Given the description of an element on the screen output the (x, y) to click on. 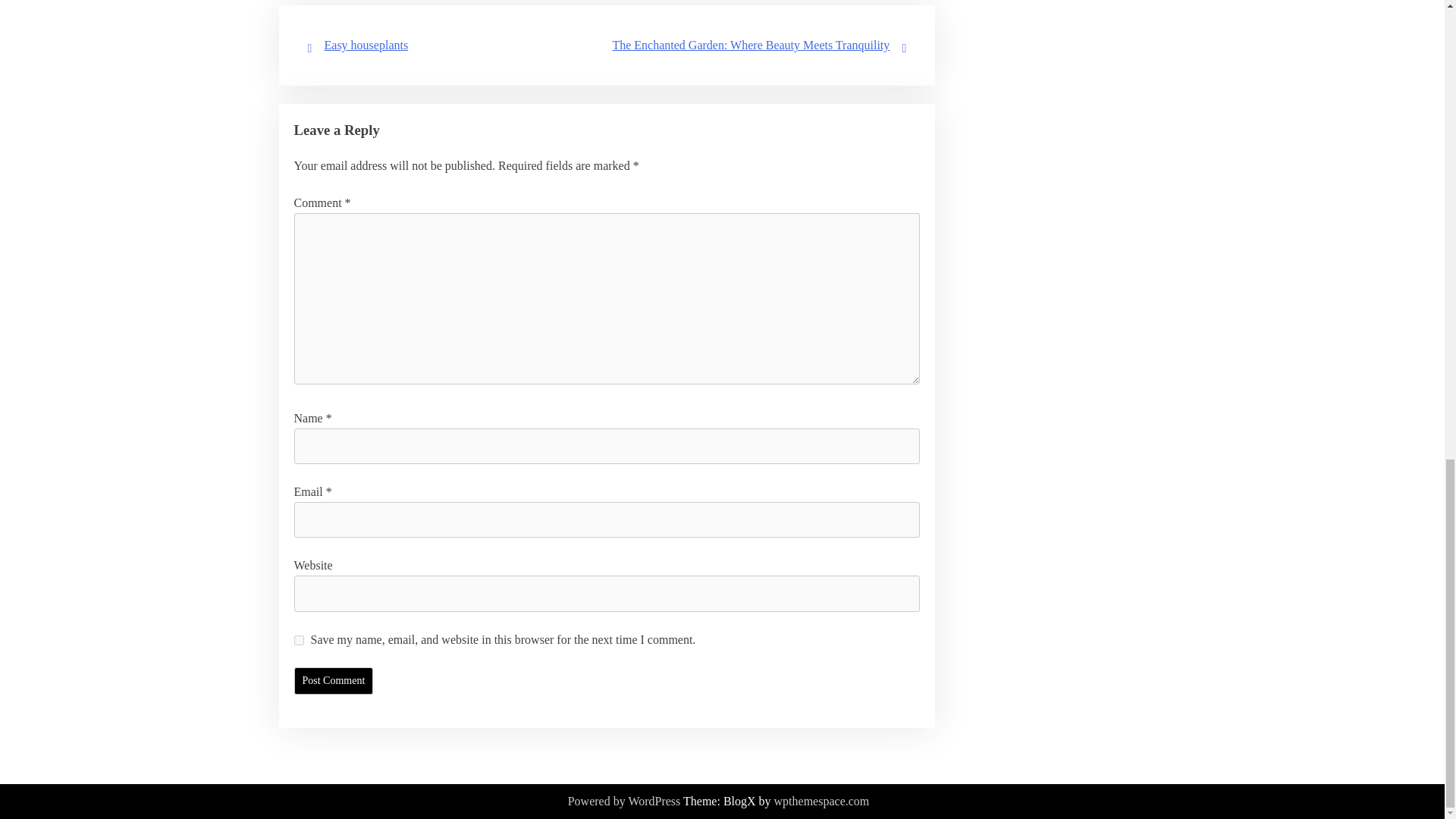
yes (299, 640)
Easy houseplants (366, 44)
Powered by WordPress (624, 801)
Post Comment (334, 680)
wpthemespace.com (821, 801)
The Enchanted Garden: Where Beauty Meets Tranquility (750, 44)
Post Comment (334, 680)
